Given the description of an element on the screen output the (x, y) to click on. 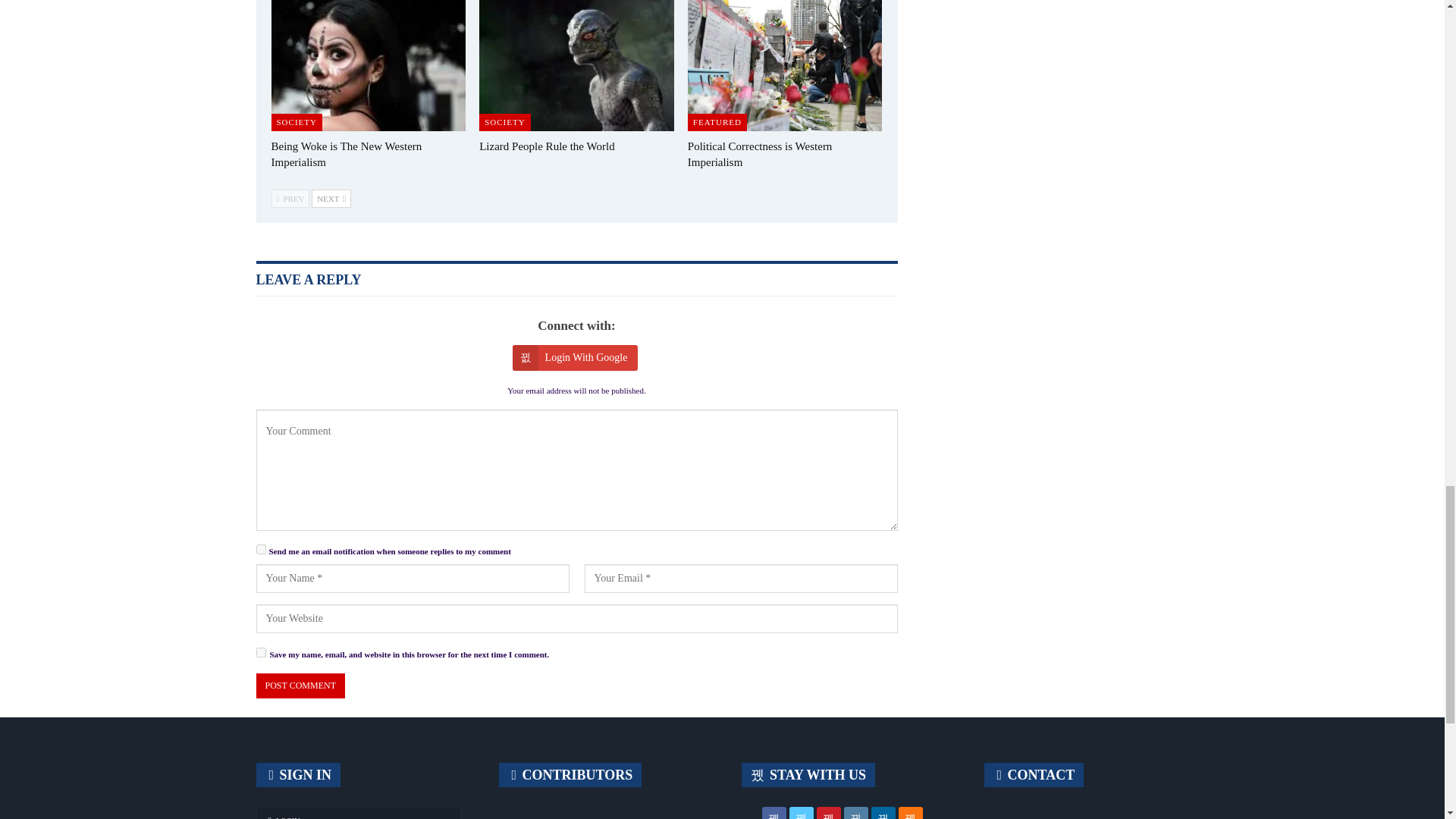
Post Comment (300, 685)
1 (261, 549)
yes (261, 652)
